Given the description of an element on the screen output the (x, y) to click on. 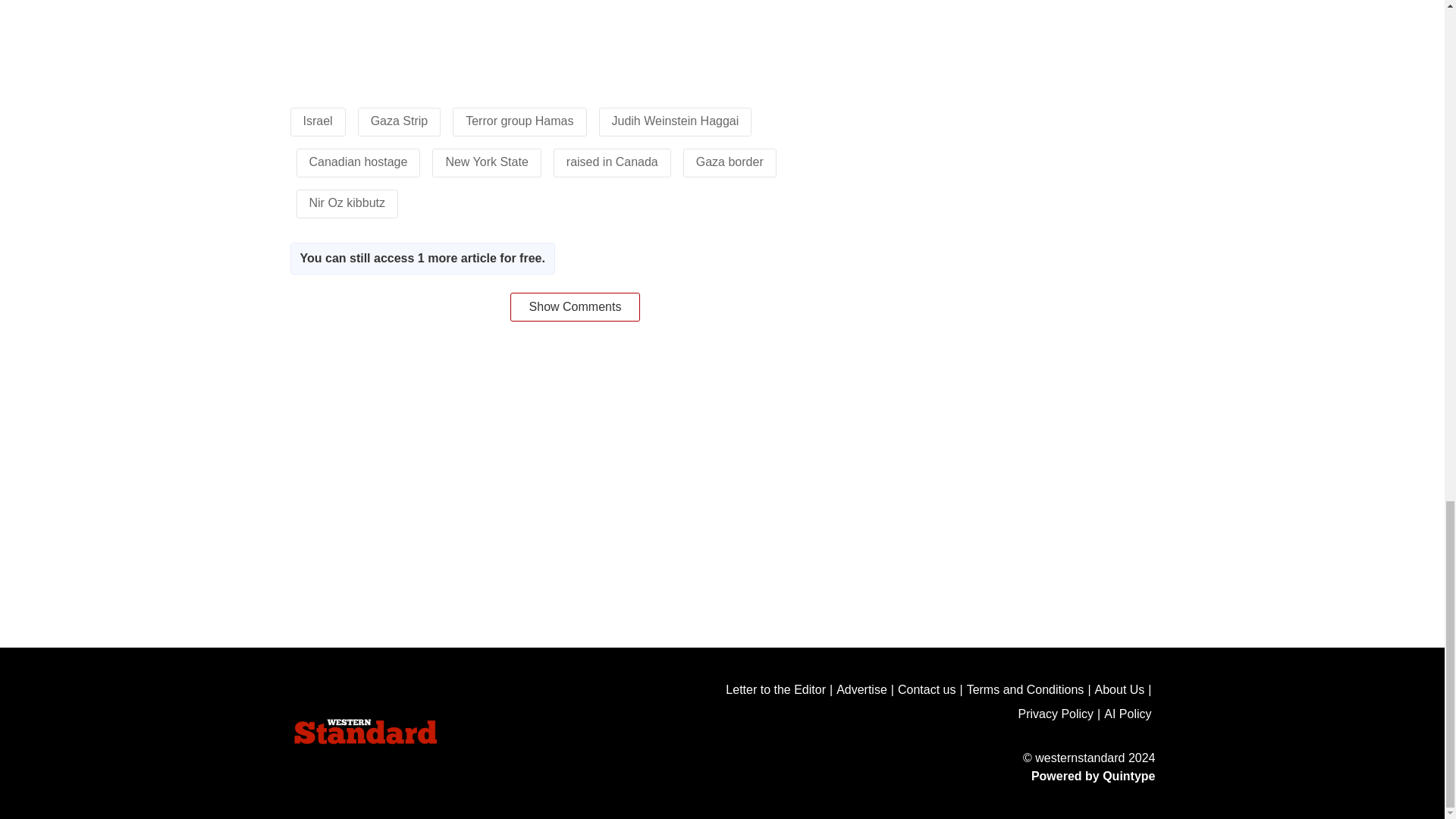
3rd party ad content (574, 37)
3rd party ad content (721, 418)
